Given the description of an element on the screen output the (x, y) to click on. 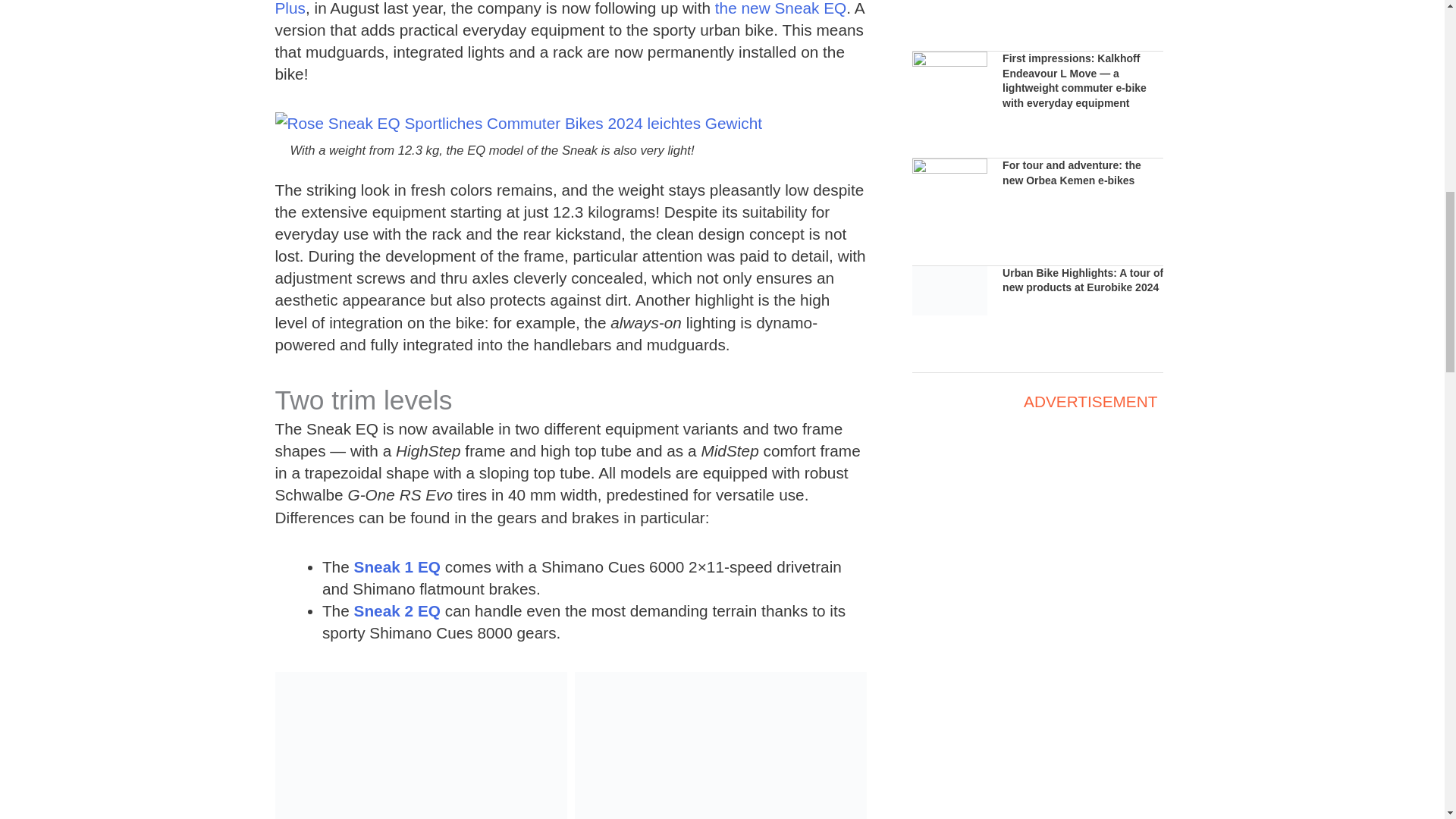
electric Sneak Plus (558, 8)
Sneak 1 EQ (397, 566)
Sneak 2 EQ (397, 610)
the new Sneak EQ (779, 8)
